Given the description of an element on the screen output the (x, y) to click on. 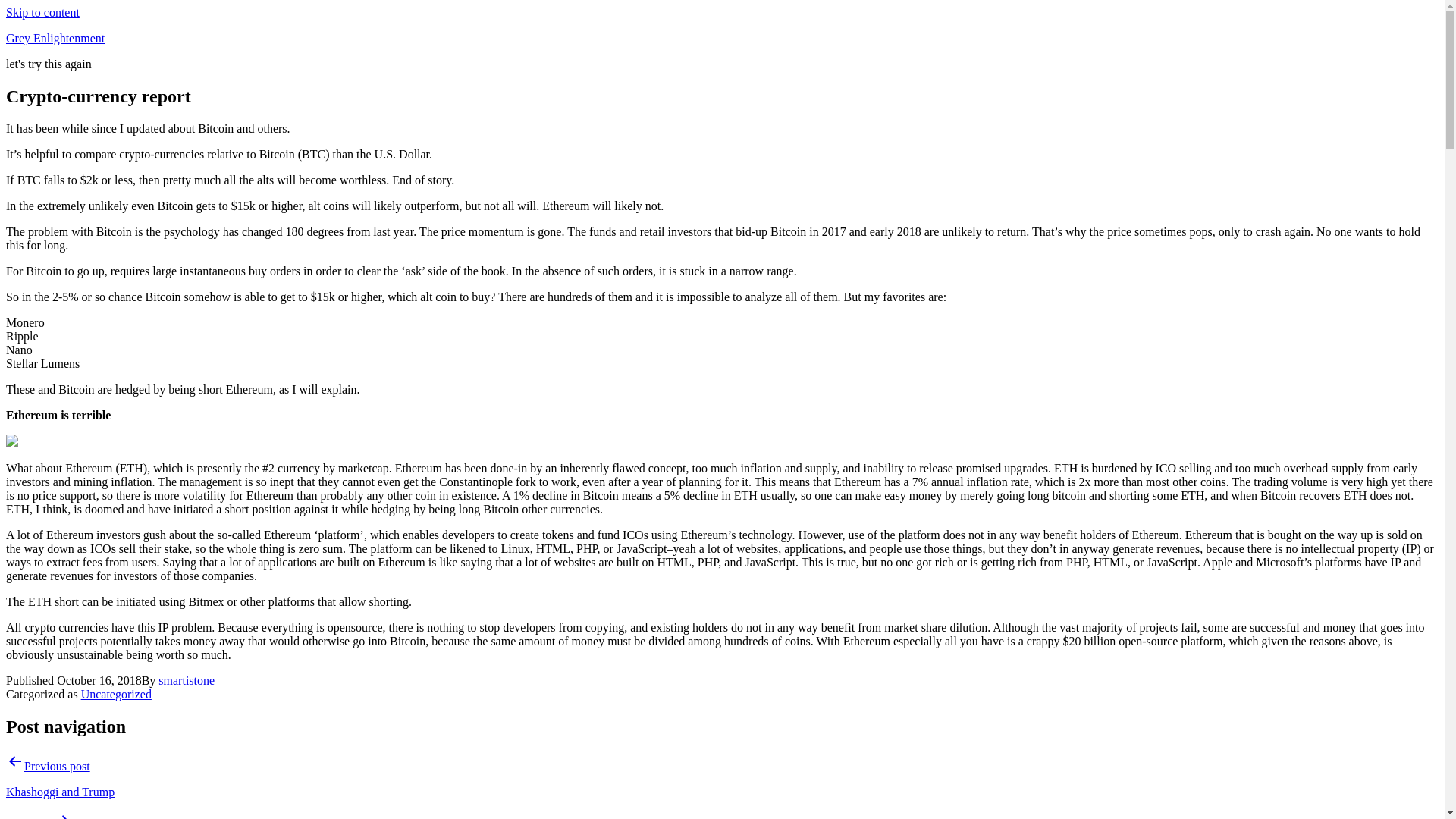
Skip to content (42, 11)
Grey Enlightenment (54, 38)
Uncategorized (116, 694)
smartistone (186, 680)
